Given the description of an element on the screen output the (x, y) to click on. 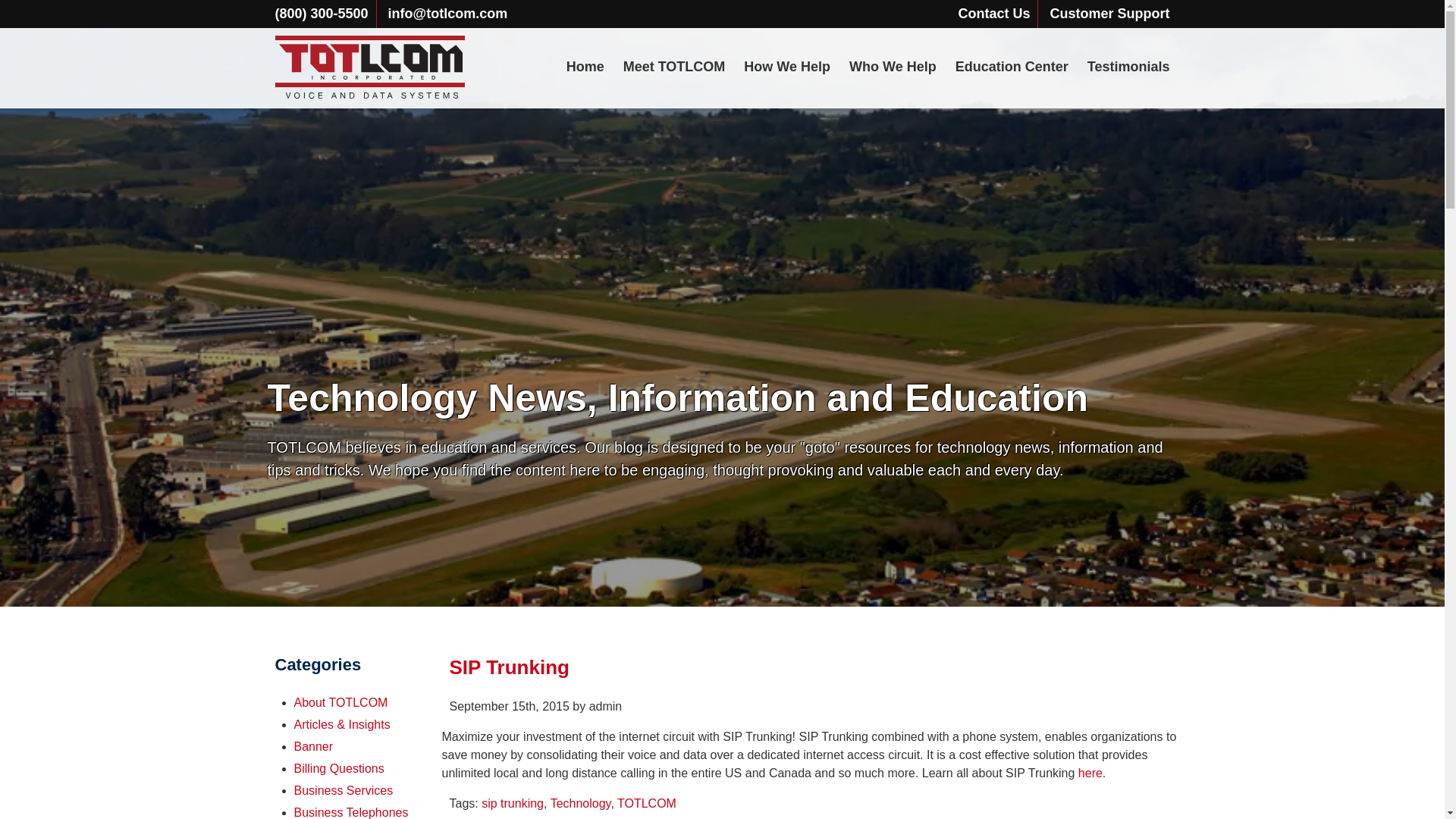
Business Telephones (351, 812)
Who We Help (892, 67)
Home (585, 67)
Business Services (343, 789)
Education Center (1011, 67)
Contact Us (993, 13)
About TOTLCOM (341, 702)
SIP Trunking (508, 667)
How We Help (786, 67)
here (1090, 772)
Technology (580, 802)
Meet TOTLCOM (674, 67)
Customer Support (1109, 13)
TOTLCOM (647, 802)
sip trunking (512, 802)
